Given the description of an element on the screen output the (x, y) to click on. 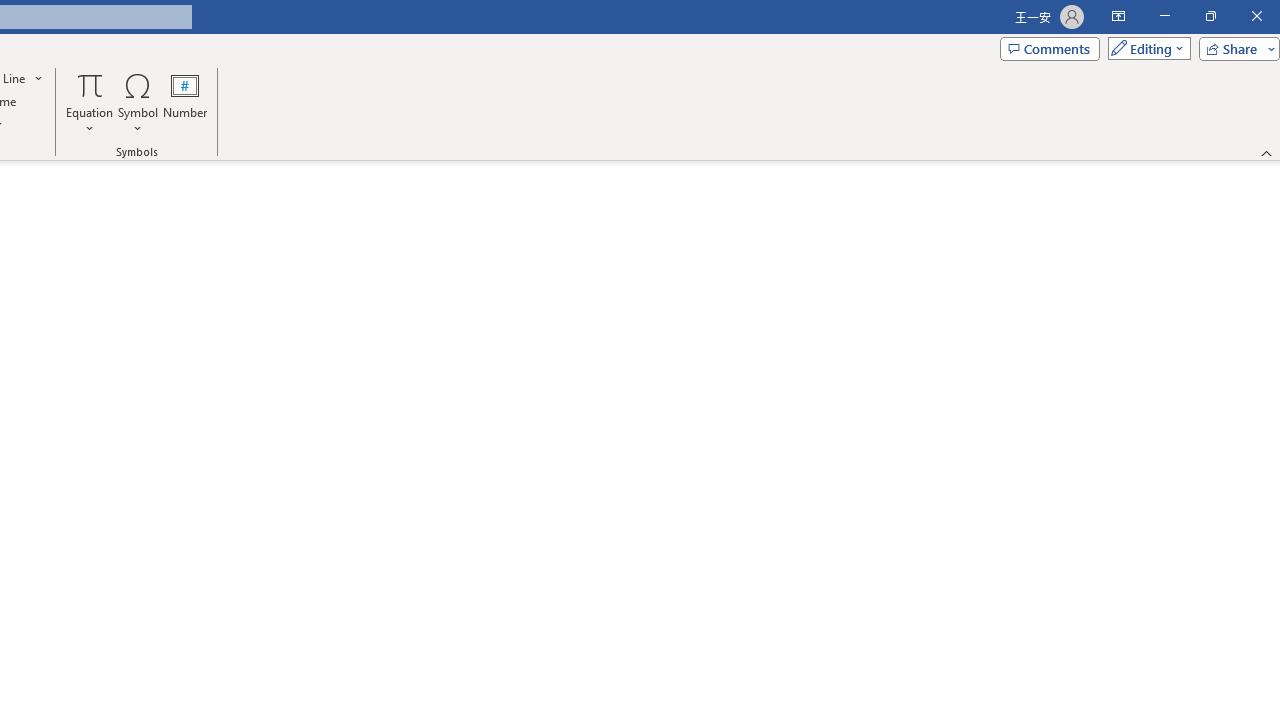
Close (1256, 16)
Symbol (138, 102)
Restore Down (1210, 16)
More Options (90, 121)
Editing (1144, 47)
Collapse the Ribbon (1267, 152)
Comments (1049, 48)
Equation (90, 84)
Minimize (1164, 16)
Number... (185, 102)
Ribbon Display Options (1118, 16)
Equation (90, 102)
Share (1235, 48)
